Given the description of an element on the screen output the (x, y) to click on. 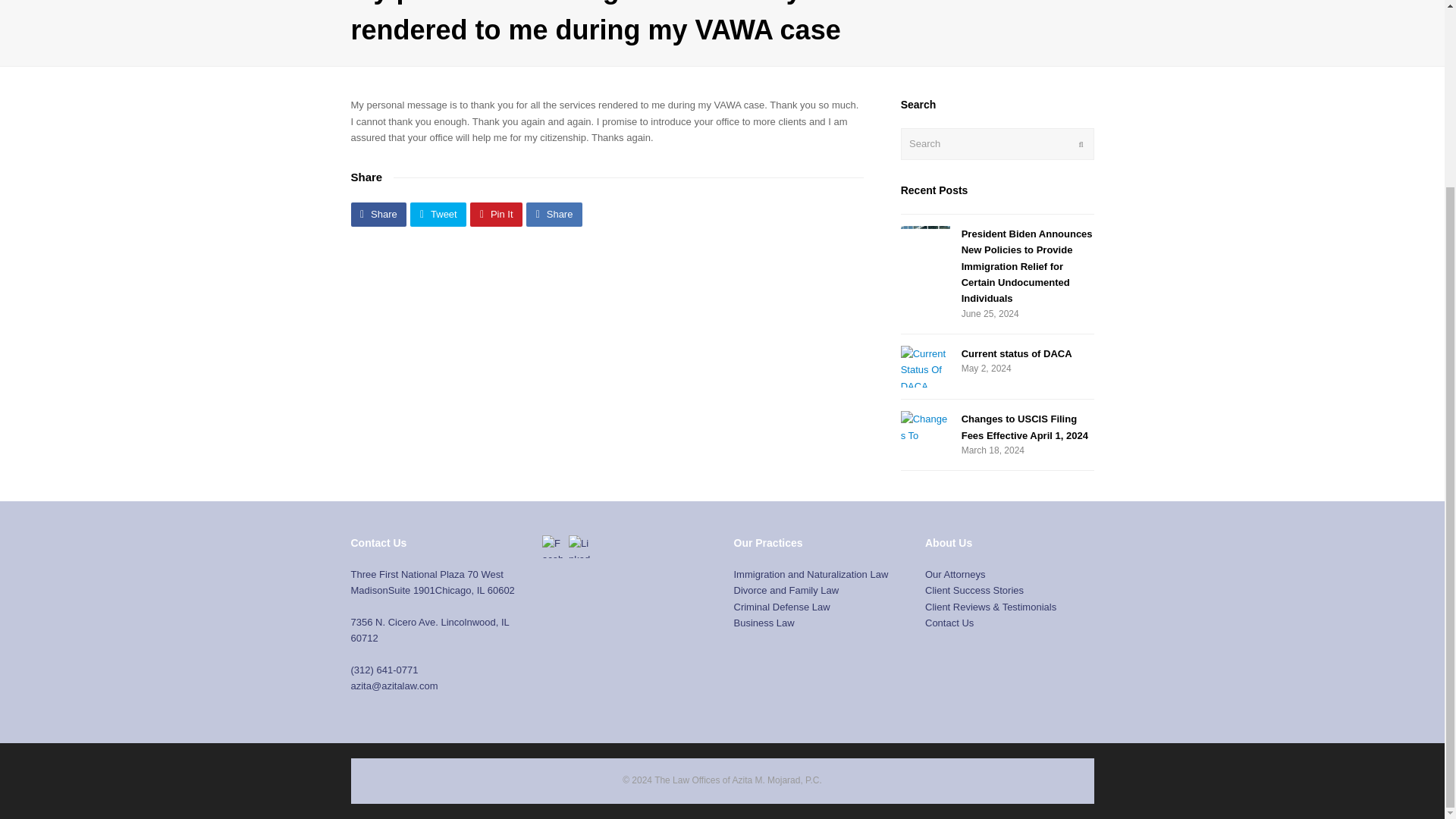
Current status of DACA (1015, 353)
Changes to USCIS Filing Fees  Effective April 1, 2024 (925, 427)
Facebook (552, 546)
Share (378, 214)
Pin It (496, 214)
Changes to USCIS Filing Fees  Effective April 1, 2024 (1023, 426)
Current status of DACA (1015, 353)
Share on Twitter (437, 214)
Share on Facebook (378, 214)
Share (553, 214)
7356 N. Cicero Ave. Lincolnwood, IL 60712 (429, 629)
Tweet (437, 214)
